Given the description of an element on the screen output the (x, y) to click on. 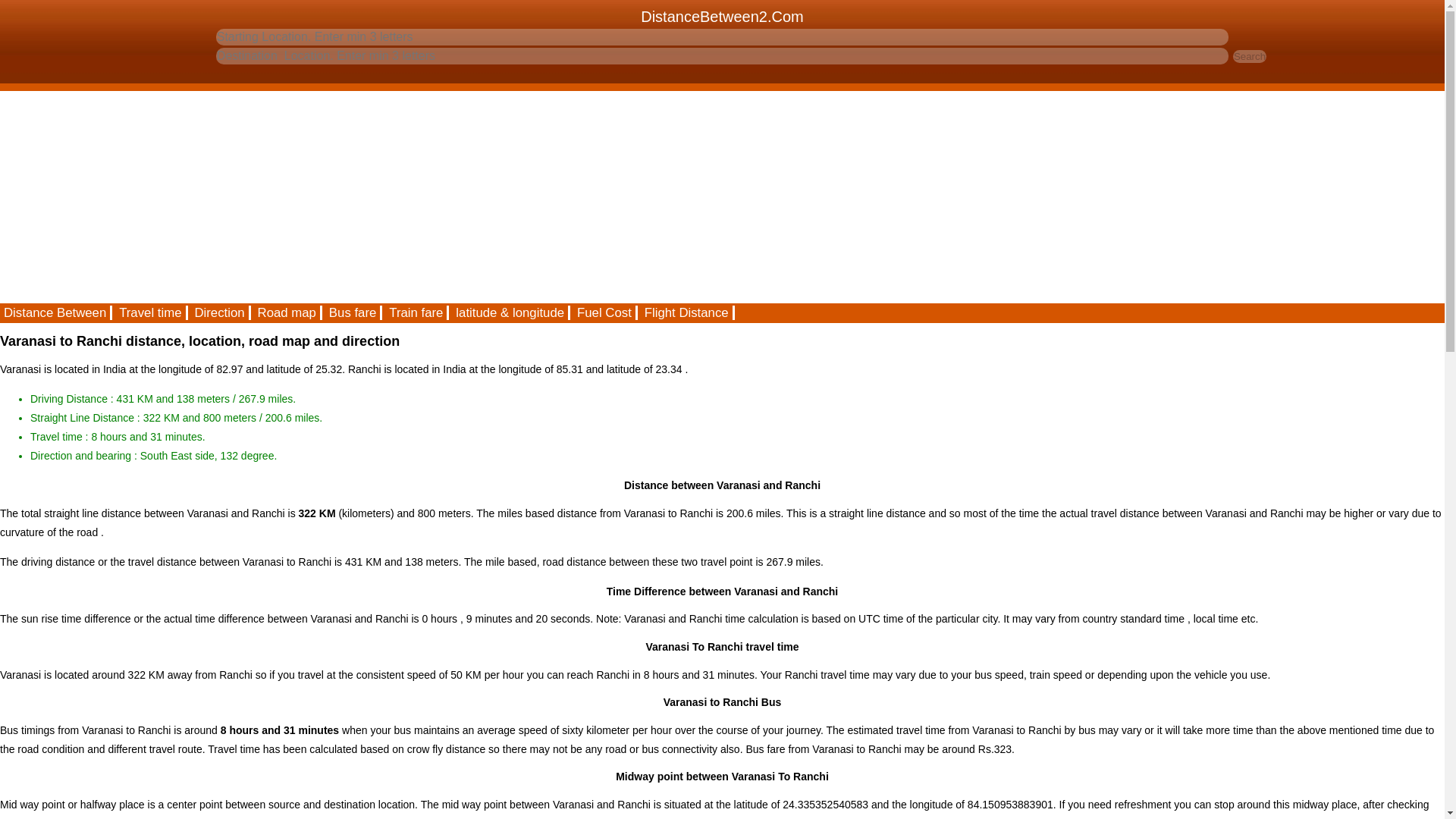
Train fare (416, 312)
Distance Between (56, 312)
Search (1249, 56)
Direction (220, 312)
Road map (287, 312)
Bus fare (353, 312)
Travel time (151, 312)
Flight Distance (687, 312)
Search (1249, 56)
driving direction (220, 312)
Fuel Cost (605, 312)
